Given the description of an element on the screen output the (x, y) to click on. 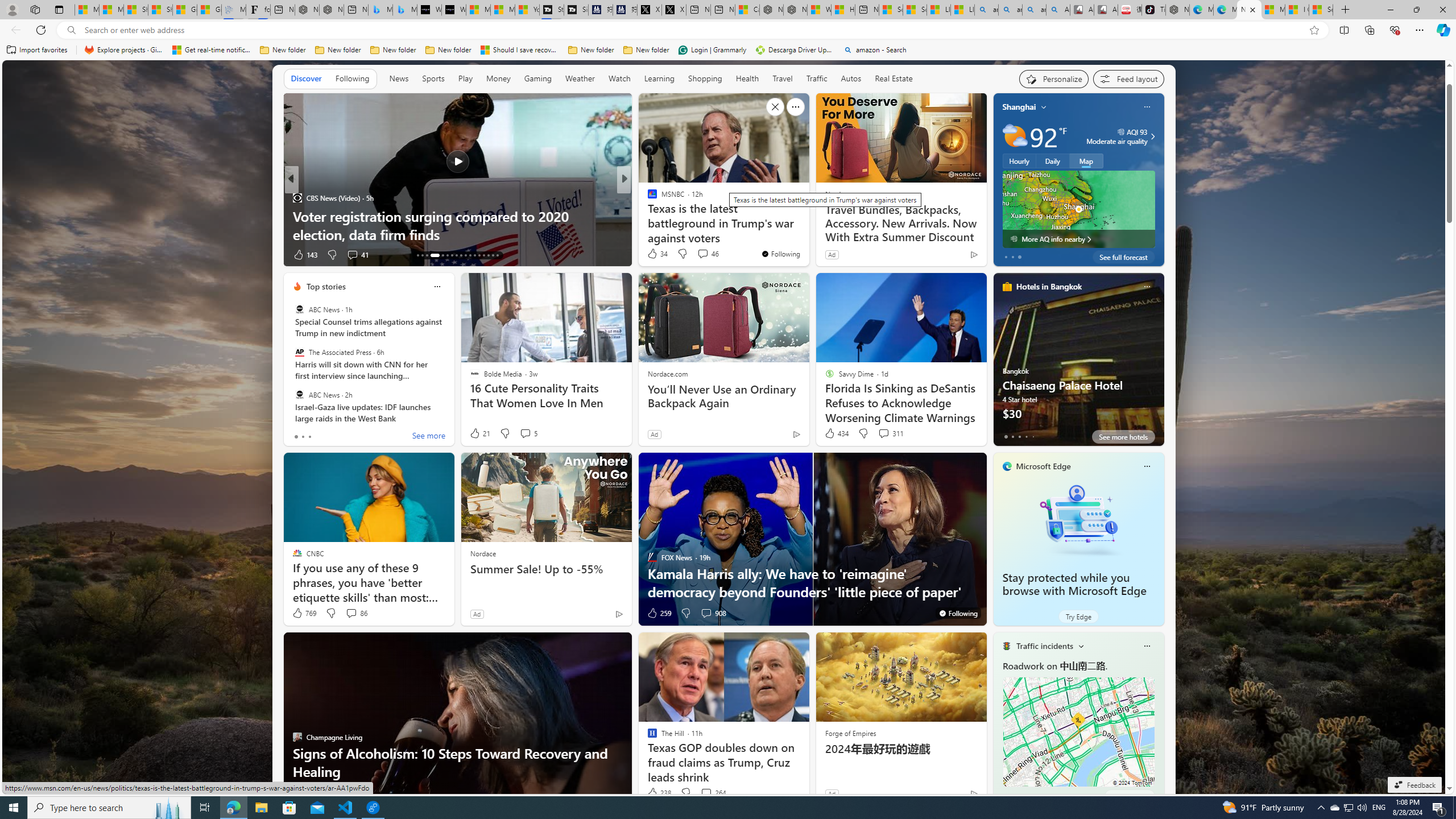
The Best Rowing Workout for Weight Loss (457, 234)
15 Habits That Make You Seem Rude (807, 234)
59 Like (652, 254)
Thrift My Life (647, 197)
amazon - Search Images (1034, 9)
View comments 46 Comment (703, 253)
Stay protected while you browse with Microsoft Edge (1077, 519)
